Given the description of an element on the screen output the (x, y) to click on. 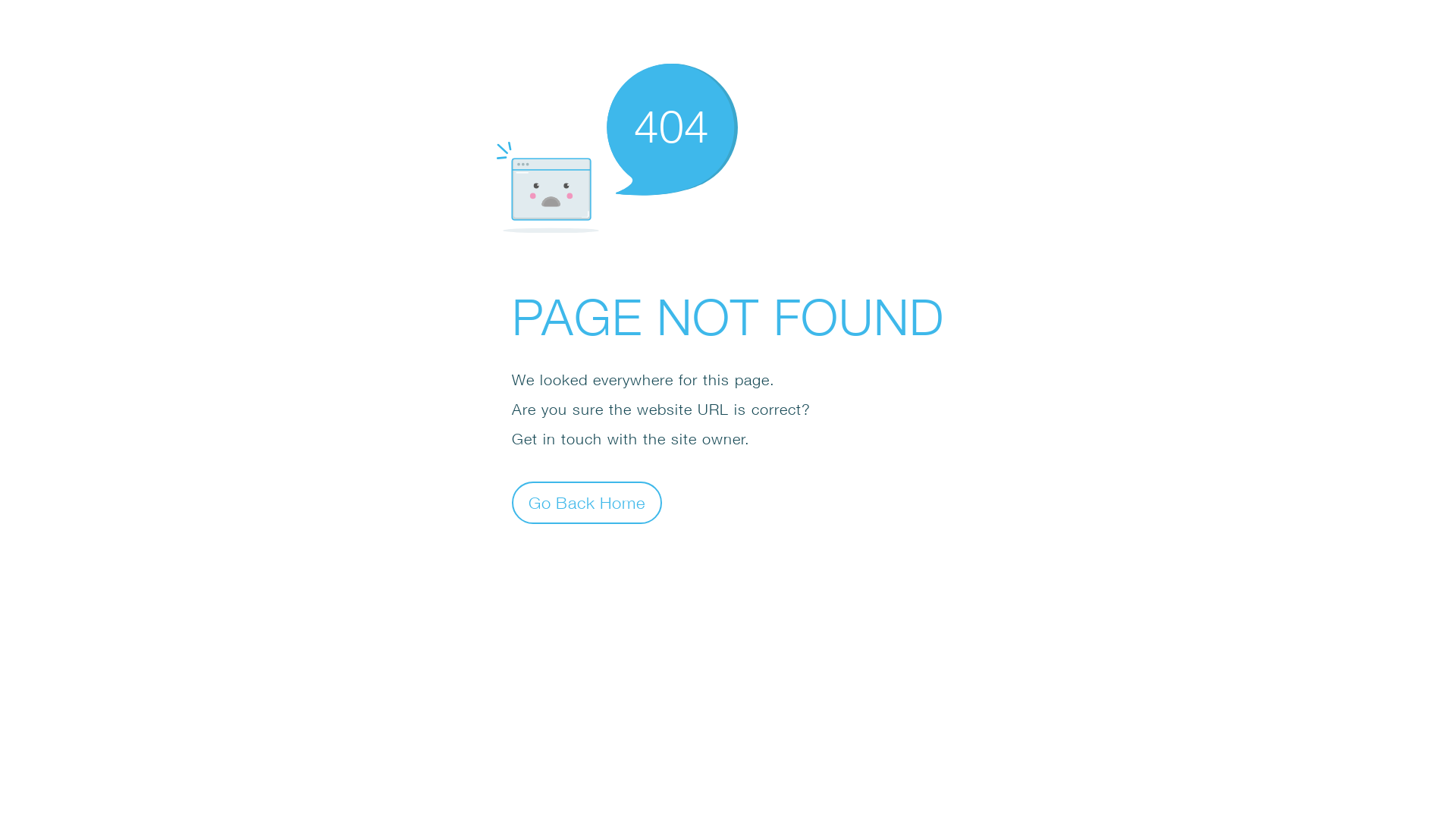
Go Back Home Element type: text (586, 502)
